Given the description of an element on the screen output the (x, y) to click on. 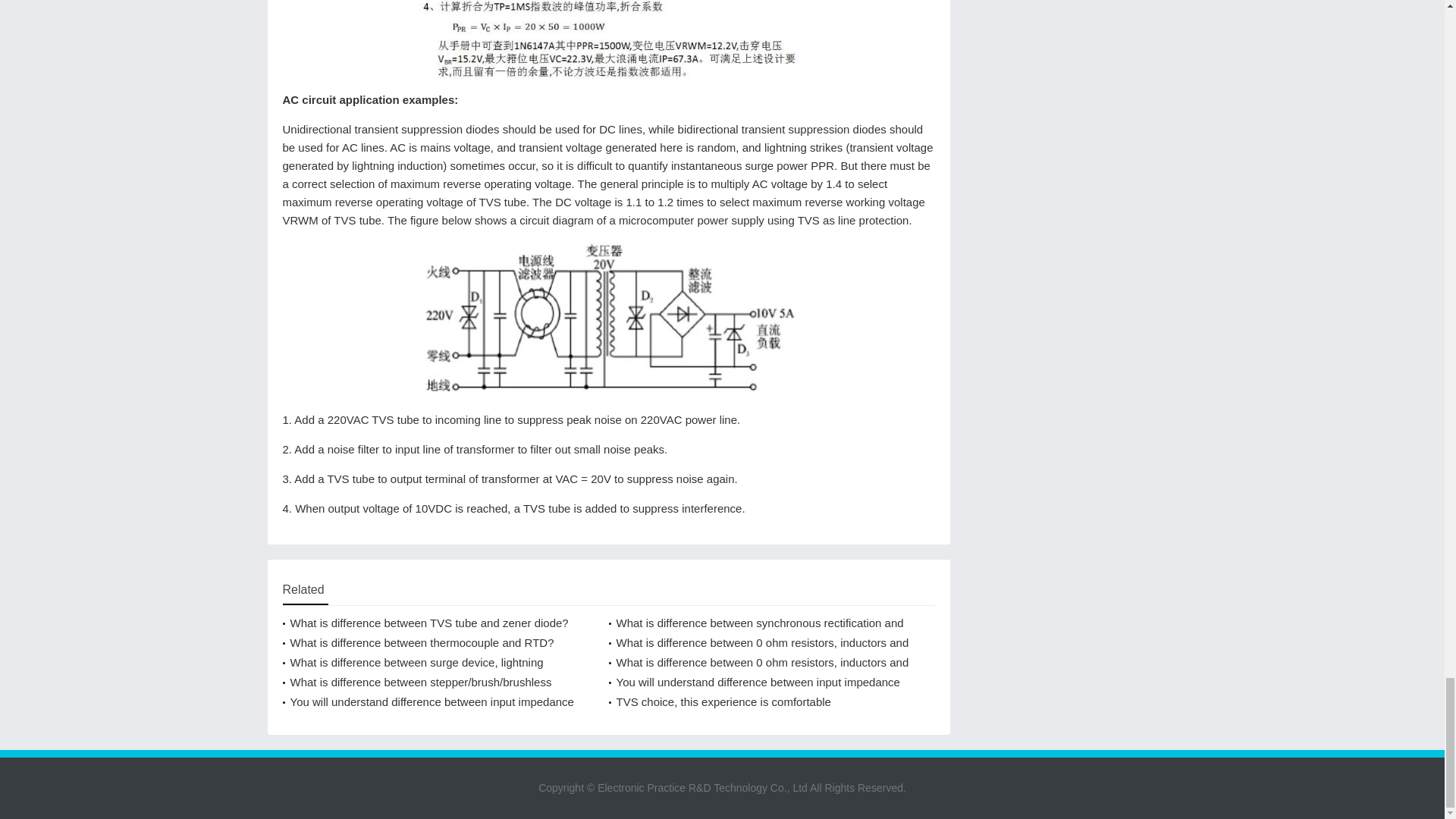
TVS choice, this experience is comfortable (759, 701)
What is difference between TVS tube and zener diode? (759, 701)
